Given the description of an element on the screen output the (x, y) to click on. 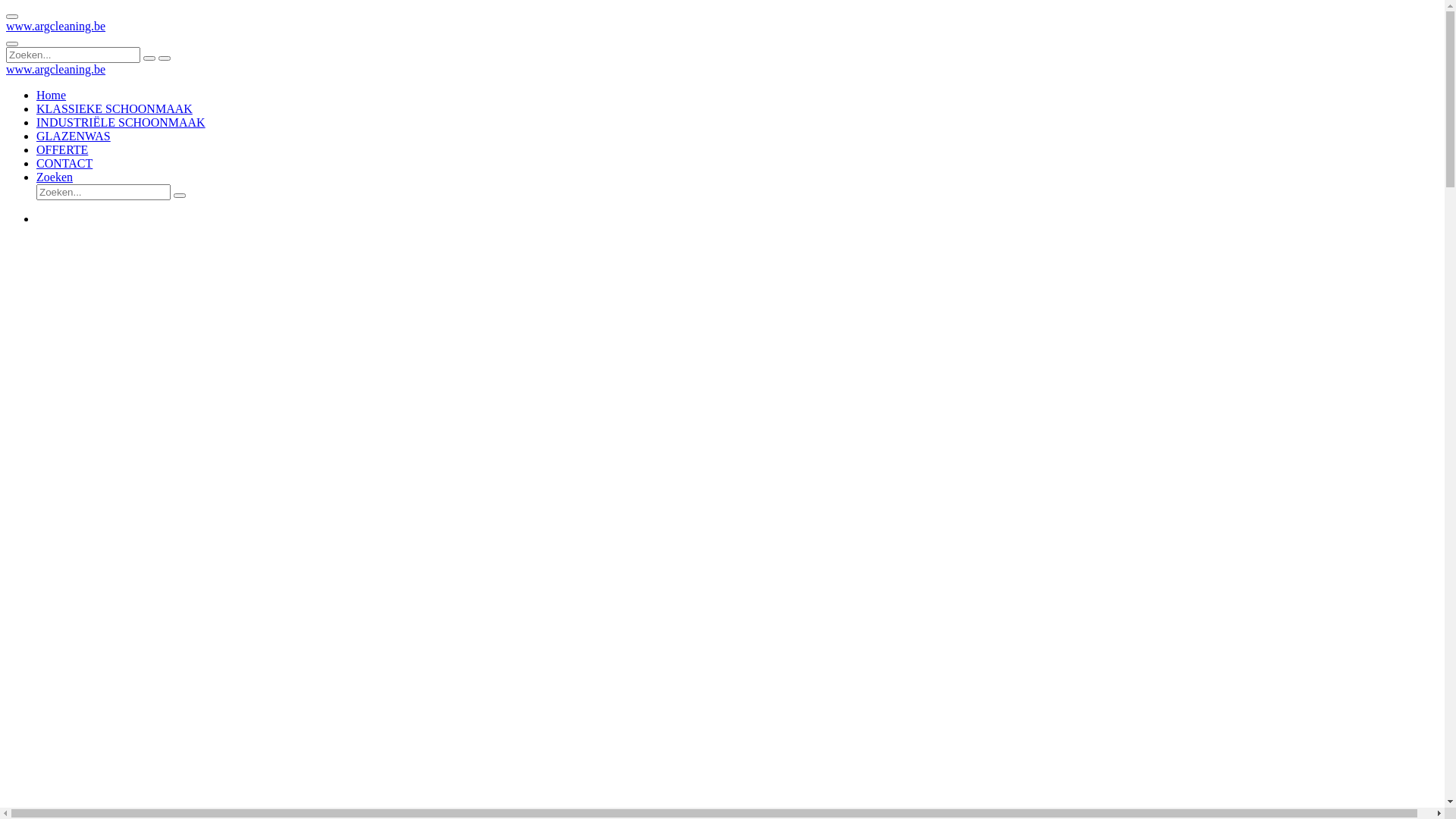
Zoeken Element type: text (54, 176)
Home Element type: text (50, 94)
www.argcleaning.be Element type: text (55, 25)
www.argcleaning.be Element type: text (55, 68)
OFFERTE Element type: text (61, 149)
KLASSIEKE SCHOONMAAK Element type: text (114, 108)
CONTACT Element type: text (64, 162)
GLAZENWAS Element type: text (73, 135)
